Given the description of an element on the screen output the (x, y) to click on. 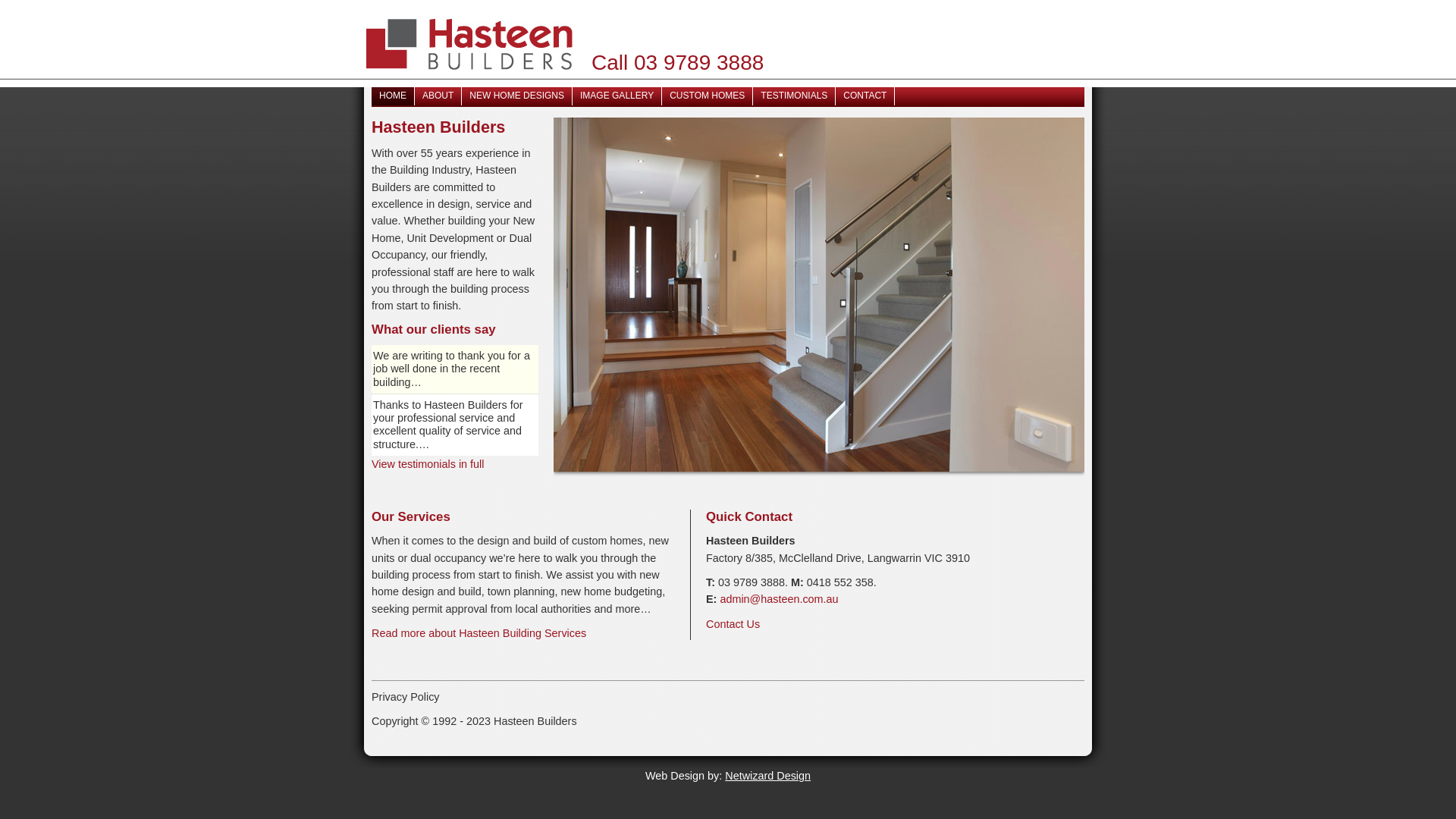
IMAGE GALLERY Element type: text (617, 96)
TESTIMONIALS Element type: text (794, 96)
View testimonials in full Element type: text (427, 464)
NEW HOME DESIGNS Element type: text (516, 96)
admin@hasteen.com.au Element type: text (778, 599)
Read more about Hasteen Building Services Element type: text (478, 633)
Netwizard Design Element type: text (767, 775)
HOME Element type: text (392, 96)
CONTACT Element type: text (864, 96)
Privacy Policy Element type: text (405, 696)
CUSTOM HOMES Element type: text (707, 96)
ABOUT Element type: text (437, 96)
Contact Us Element type: text (732, 624)
